Given the description of an element on the screen output the (x, y) to click on. 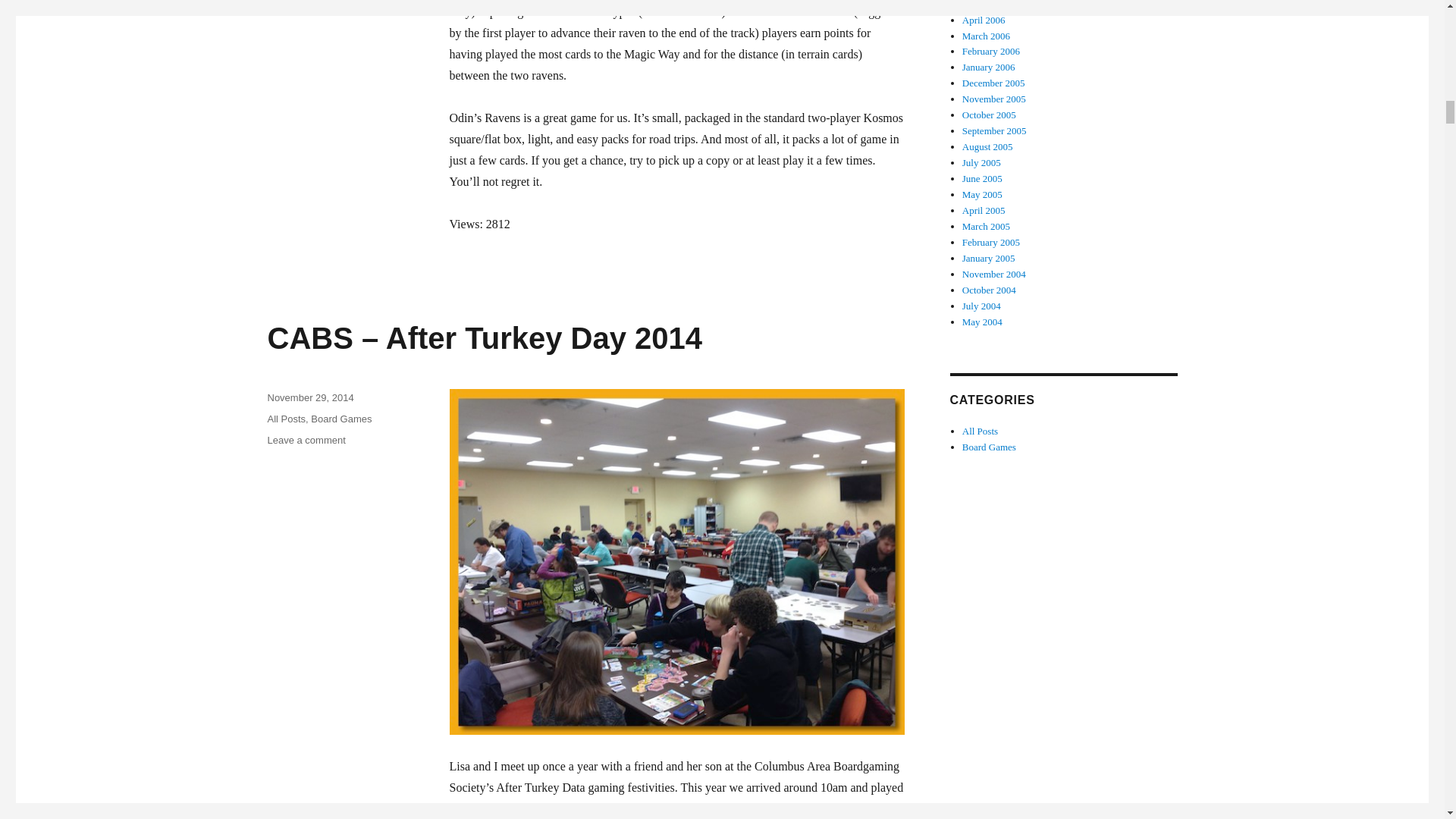
November 29, 2014 (309, 397)
Board Games (341, 419)
All Posts (285, 419)
